Given the description of an element on the screen output the (x, y) to click on. 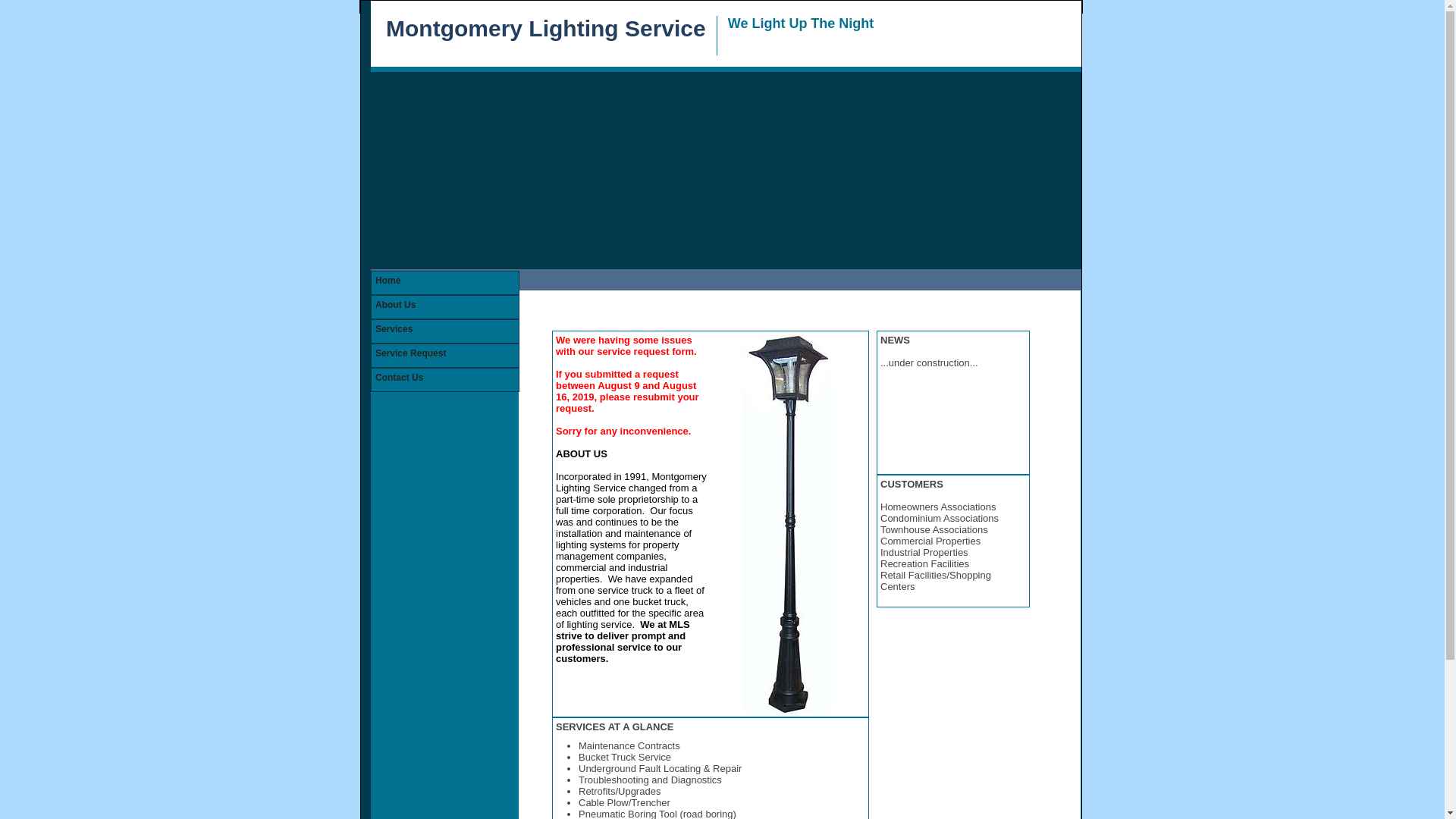
About Us (444, 306)
Home (444, 282)
Service Request (444, 354)
Services (444, 331)
Contact Us (444, 379)
